Given the description of an element on the screen output the (x, y) to click on. 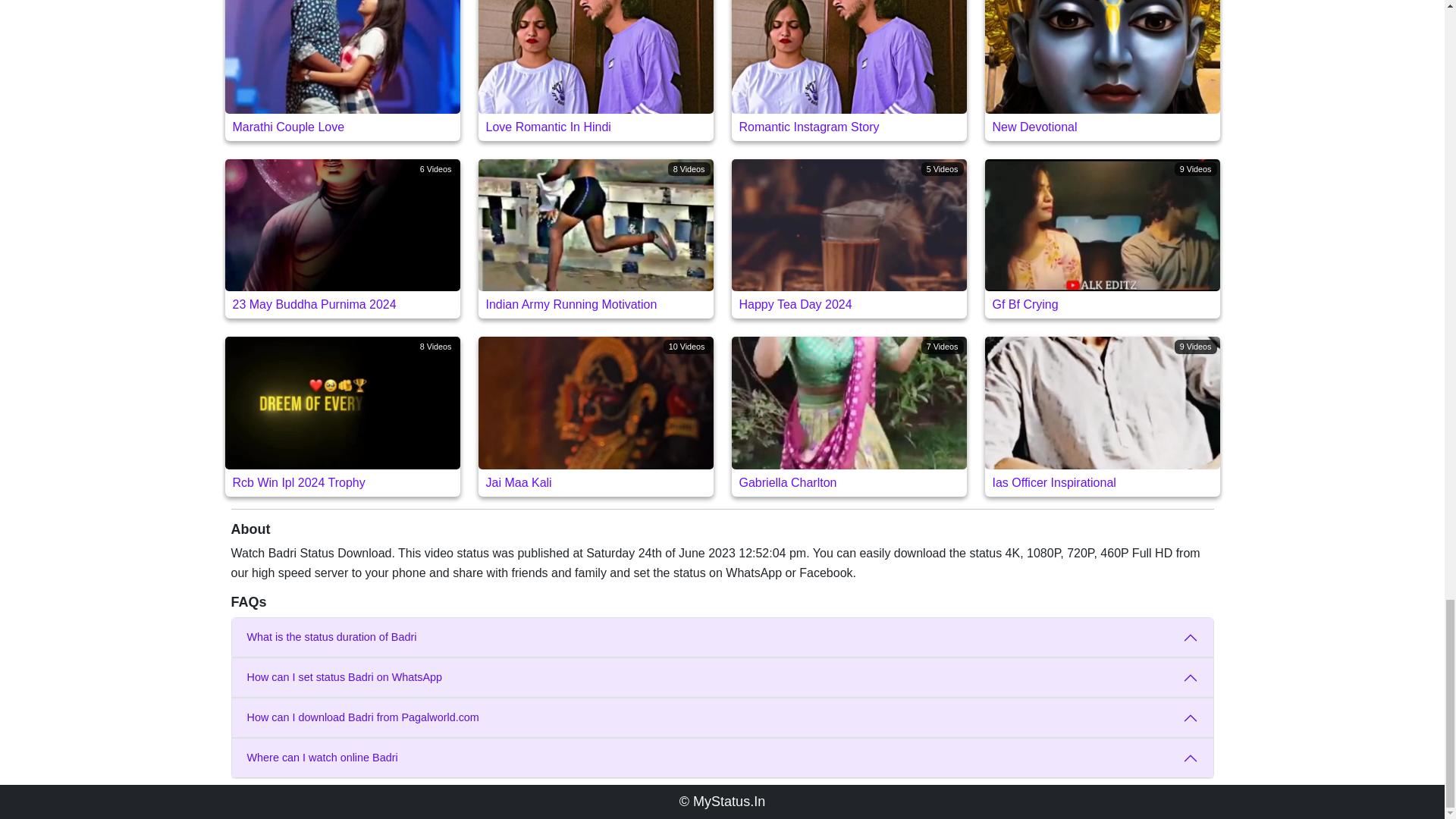
MyStatus.In (342, 416)
Where can I watch online Badri (1102, 238)
How can I set status Badri on WhatsApp (595, 238)
How can I download Badri from Pagalworld.com (342, 238)
